Given the description of an element on the screen output the (x, y) to click on. 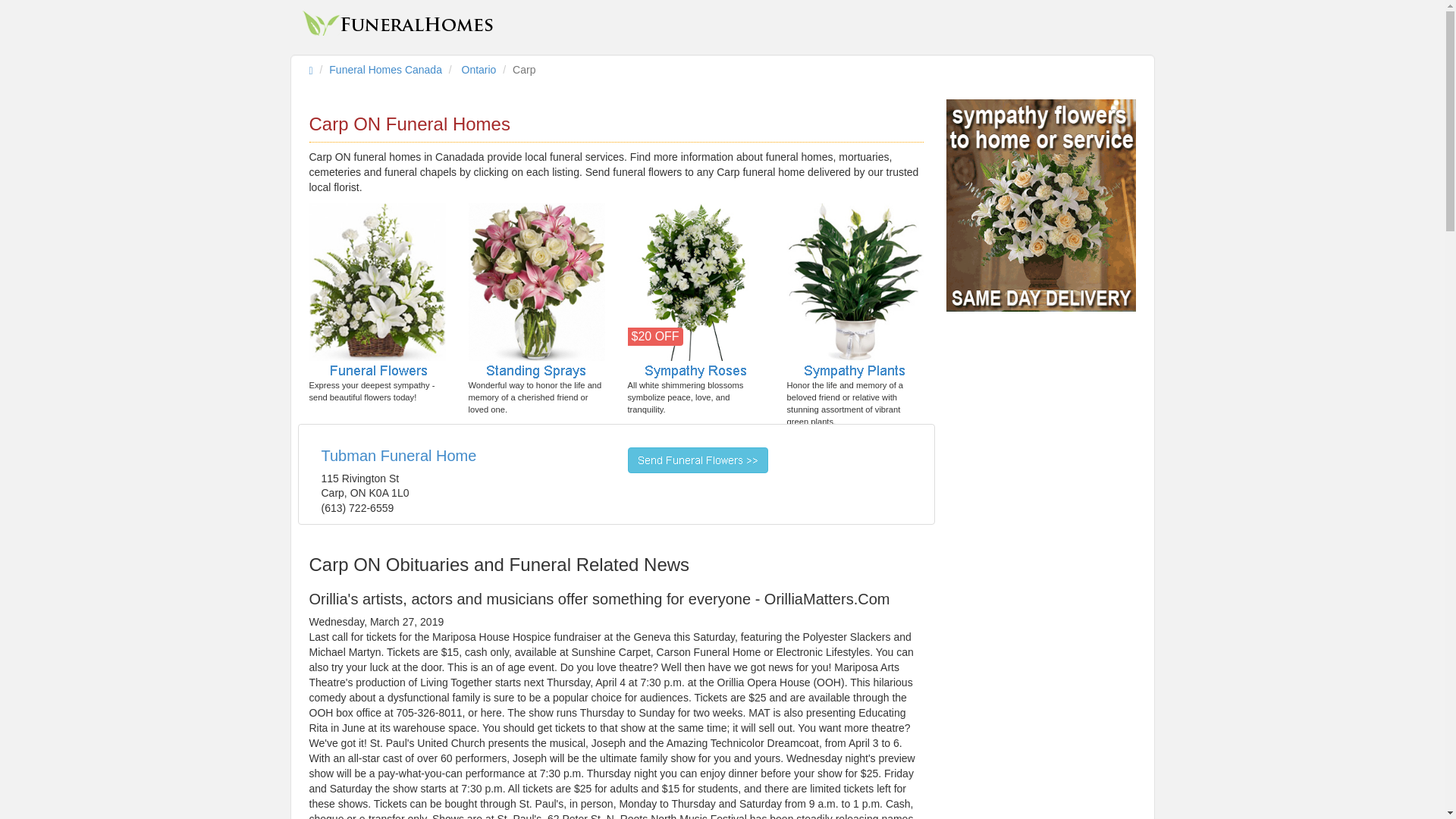
Funeral Homes Canada (385, 69)
Tubman Funeral Home (399, 455)
Ontario (478, 69)
